Given the description of an element on the screen output the (x, y) to click on. 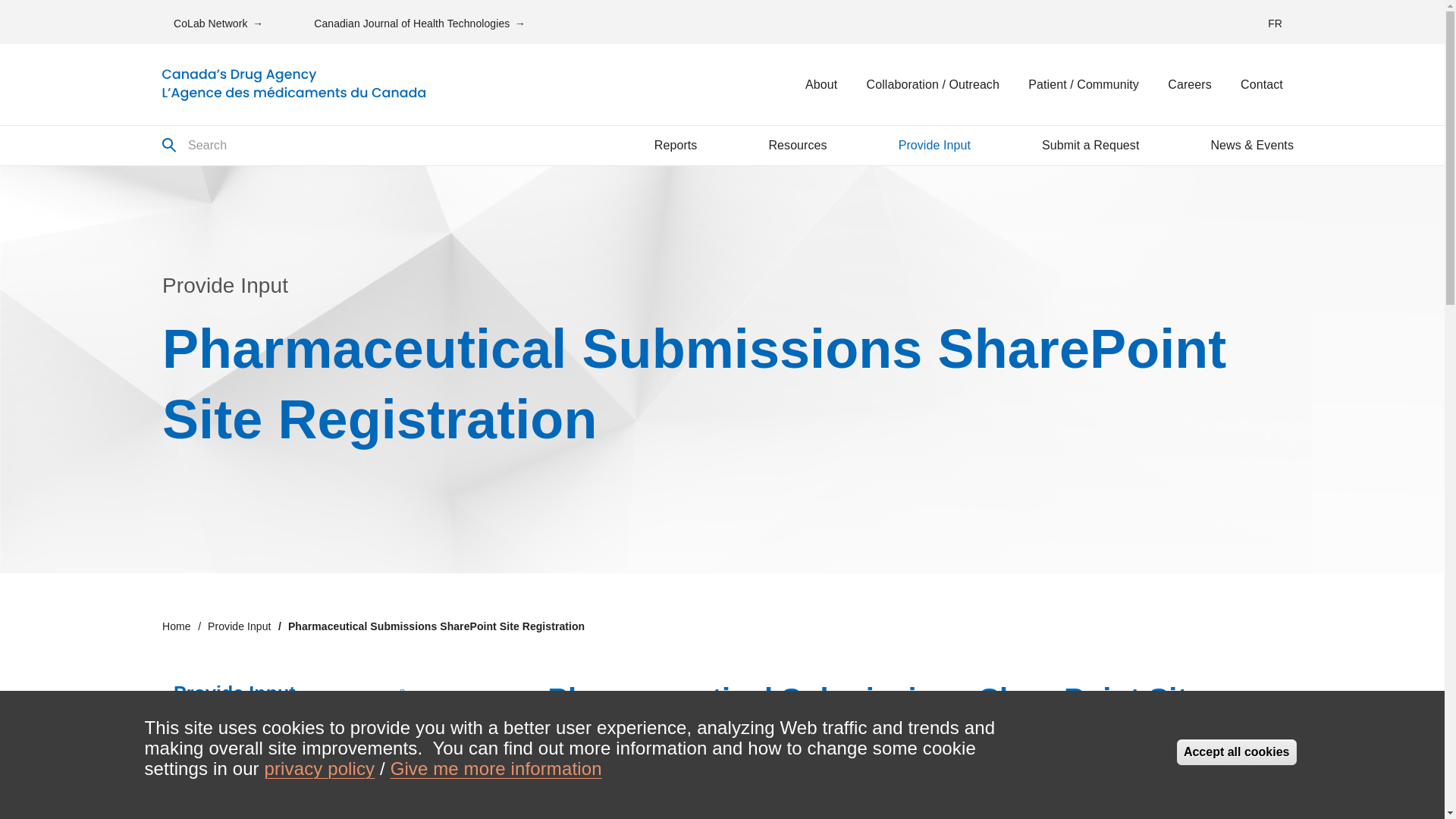
About (821, 85)
Contact (1261, 85)
Reports (675, 145)
CoLab Network (218, 23)
Provide Input (934, 145)
Canadian Journal of Health Technologies (420, 23)
Careers (1189, 85)
FR (1275, 23)
Submit a Request (1090, 145)
Resources (797, 145)
